Given the description of an element on the screen output the (x, y) to click on. 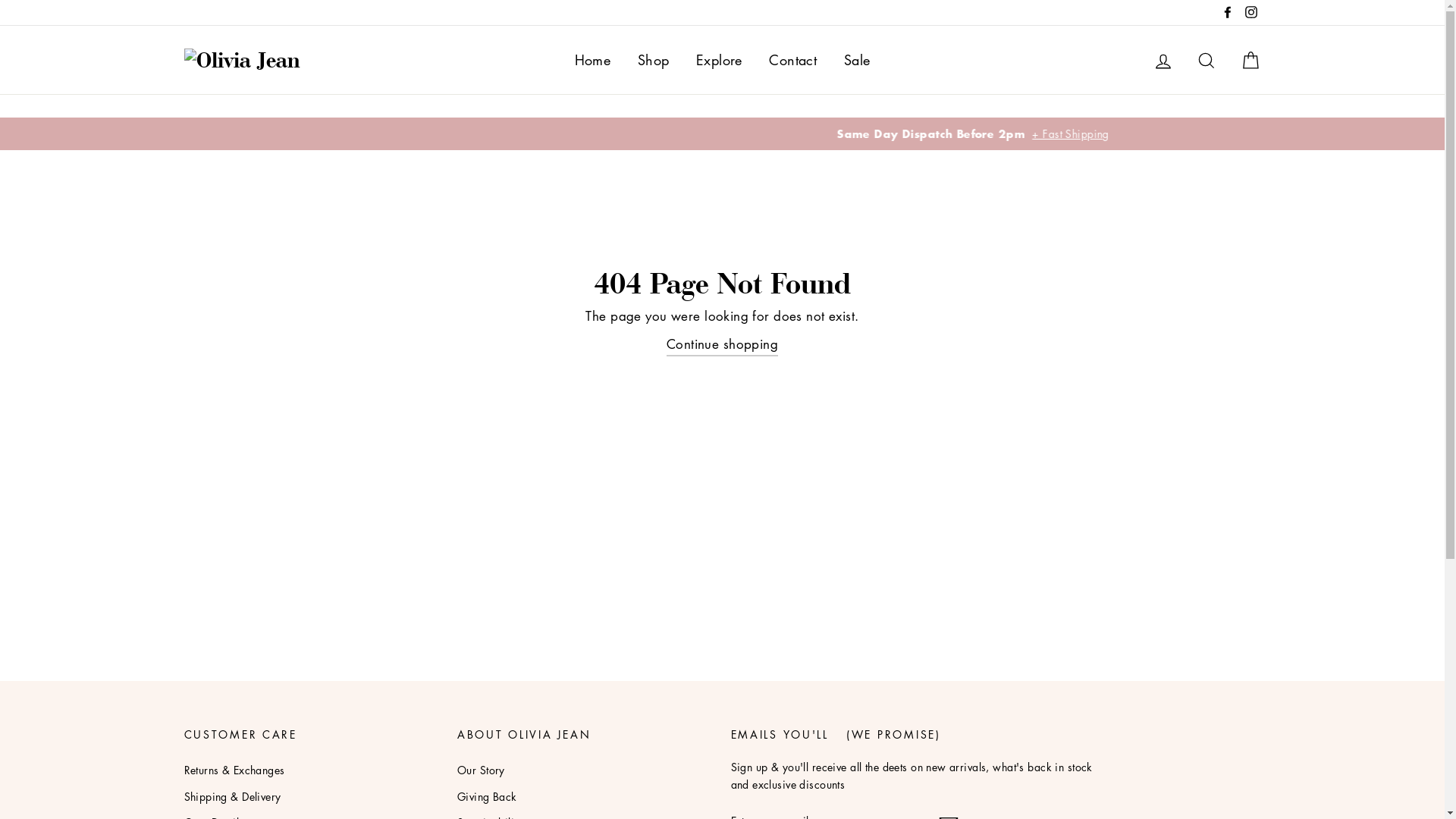
UP TO 80% OFF SITEWIDE* Shop Now Element type: text (722, 133)
Home Element type: text (592, 59)
Facebook Element type: text (1227, 12)
Shipping & Delivery Element type: text (231, 796)
Log in Element type: text (1163, 59)
Cart Element type: text (1249, 59)
Continue shopping Element type: text (722, 344)
Instagram Element type: text (1250, 12)
Sale Element type: text (856, 59)
Shop Element type: text (653, 59)
Our Story Element type: text (481, 769)
Returns & Exchanges Element type: text (233, 769)
Skip to content Element type: text (0, 0)
Contact Element type: text (792, 59)
Giving Back Element type: text (487, 796)
Explore Element type: text (718, 59)
Search Element type: text (1206, 59)
